Given the description of an element on the screen output the (x, y) to click on. 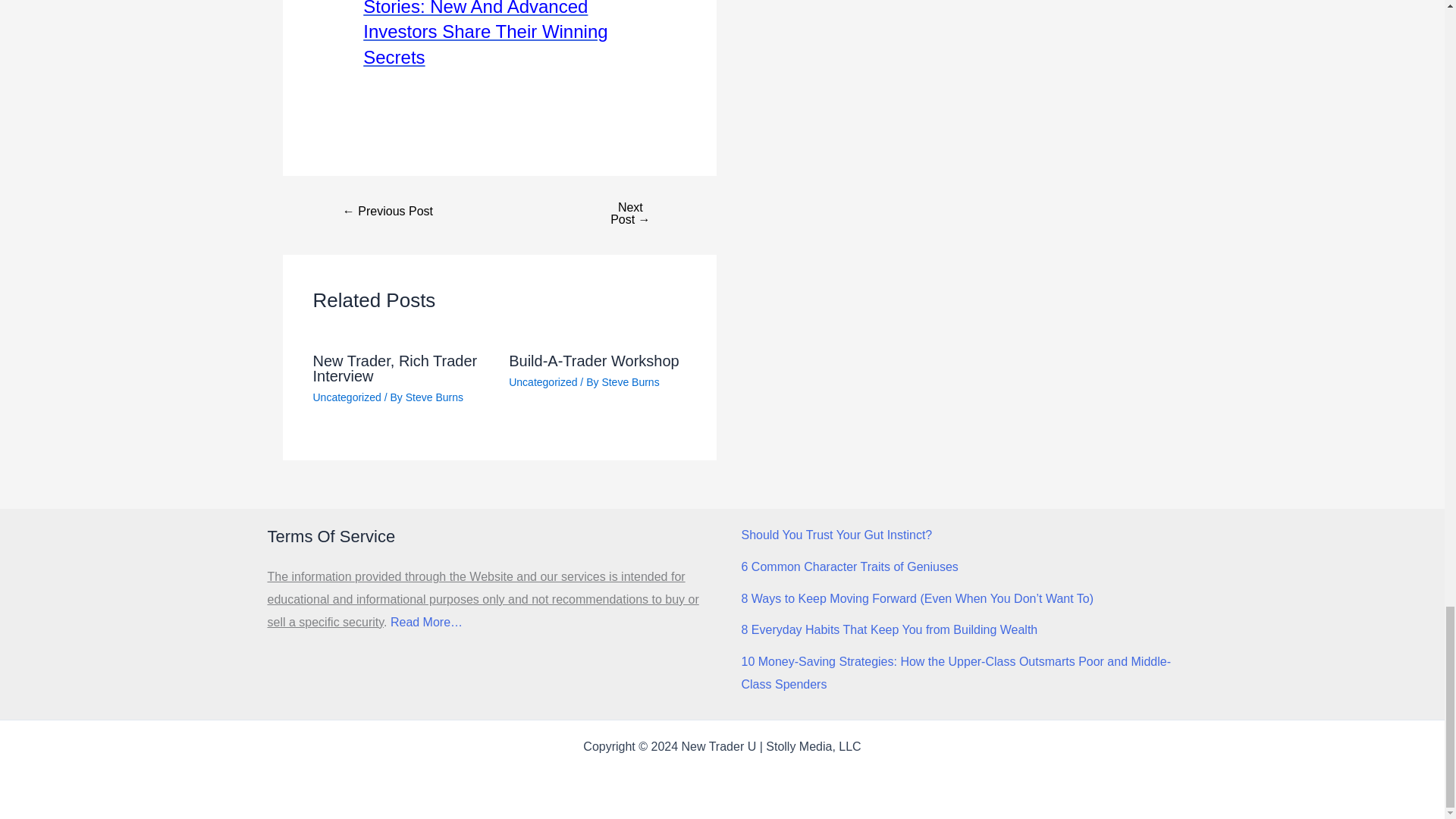
Uncategorized (542, 381)
Click for book link (498, 33)
Steve Burns (630, 381)
New Trader, Rich Trader Interview (395, 368)
Uncategorized (346, 397)
Should You Trust Your Gut Instinct? (837, 534)
A New Modern Day Jesse Livermore (387, 211)
View all posts by Steve Burns (434, 397)
6 Common Character Traits of Geniuses (849, 566)
Build-A-Trader Workshop (593, 360)
Steve Burns (434, 397)
View all posts by Steve Burns (630, 381)
